Given the description of an element on the screen output the (x, y) to click on. 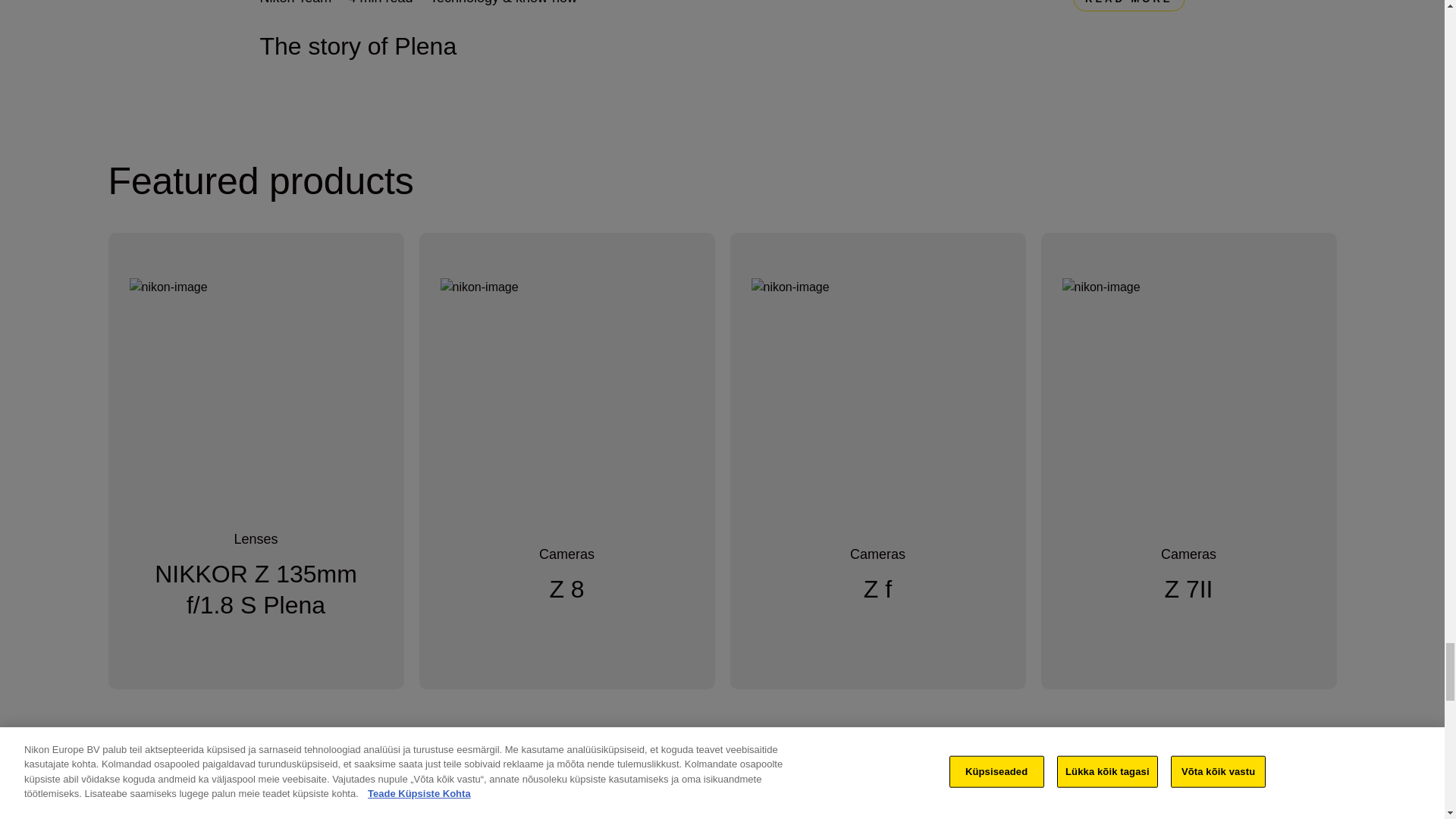
READ MORE (1129, 5)
